Given the description of an element on the screen output the (x, y) to click on. 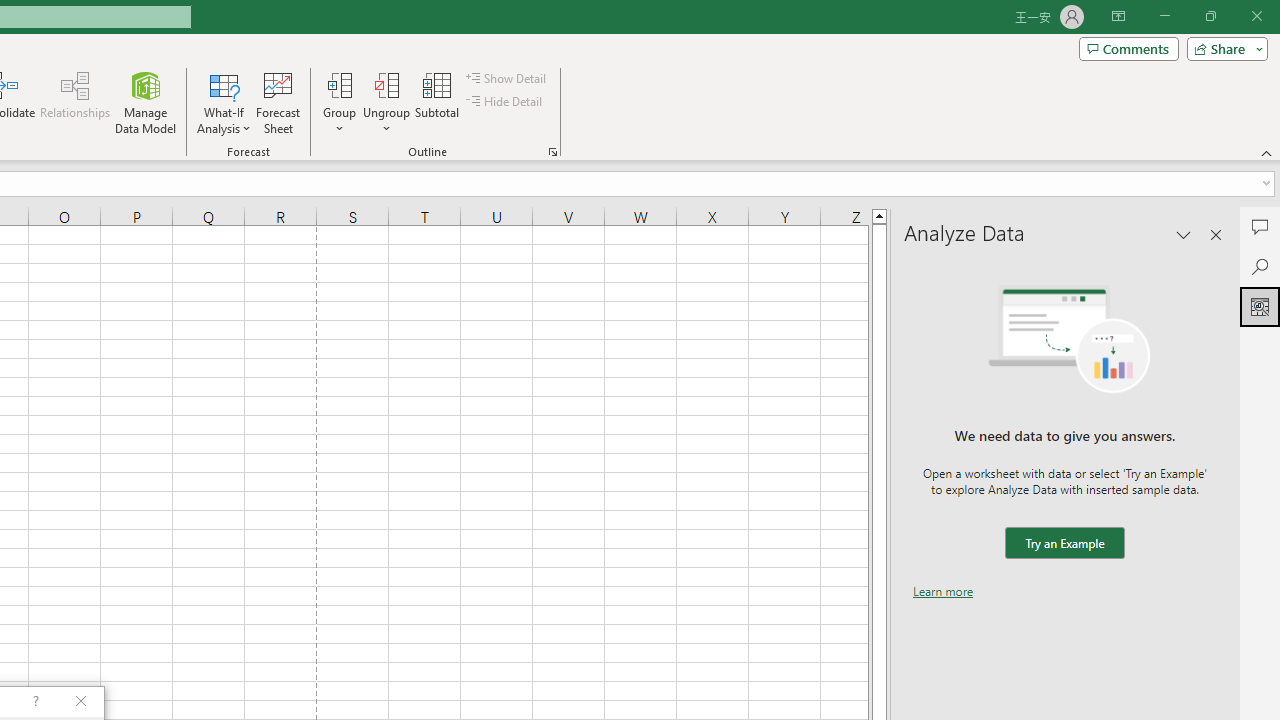
Manage Data Model (145, 102)
Forecast Sheet (278, 102)
Group and Outline Settings (552, 151)
Hide Detail (505, 101)
Relationships (75, 102)
Subtotal (437, 102)
What-If Analysis (223, 102)
